Given the description of an element on the screen output the (x, y) to click on. 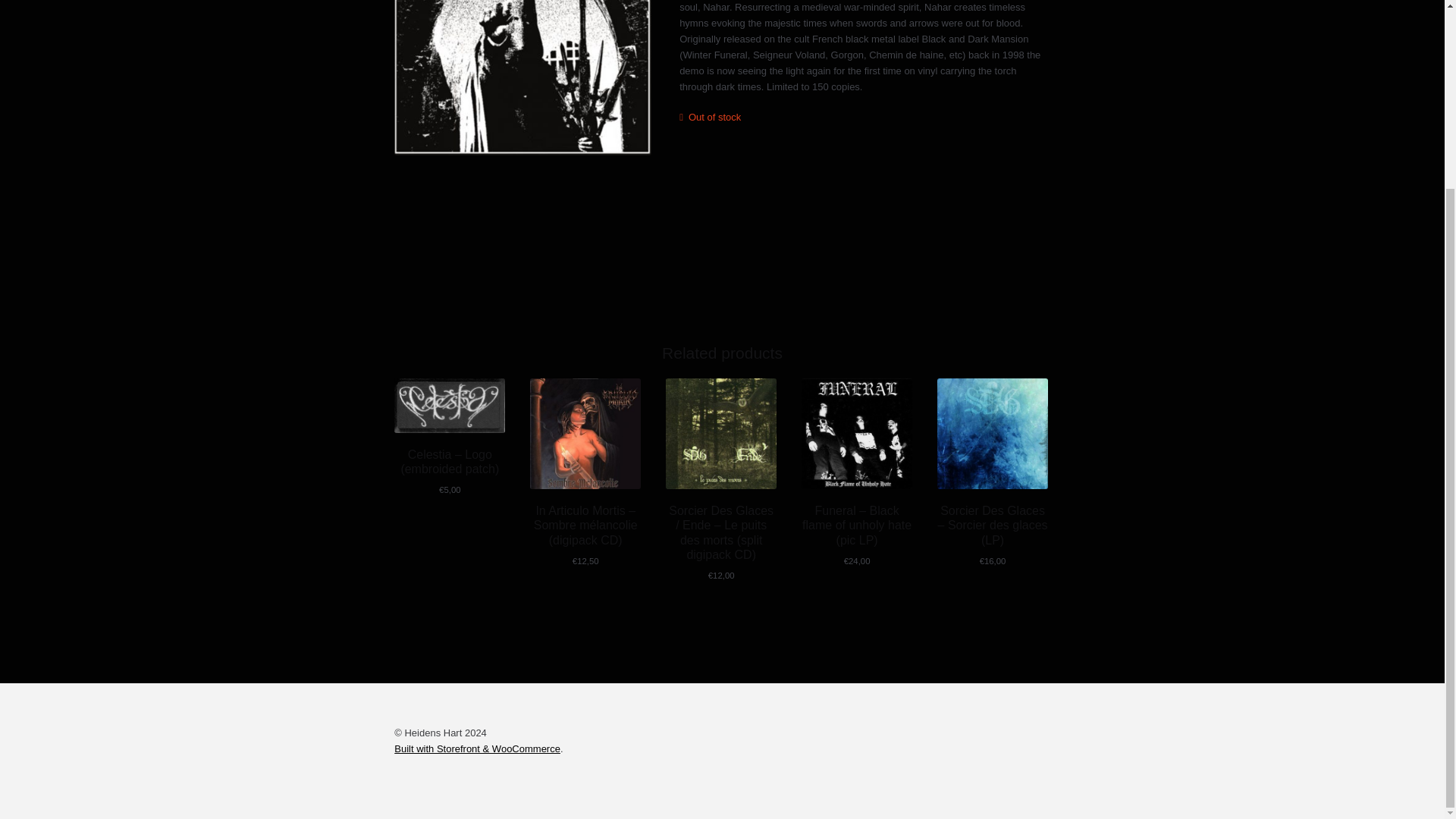
WooCommerce - The Best eCommerce Platform for WordPress (477, 748)
